Given the description of an element on the screen output the (x, y) to click on. 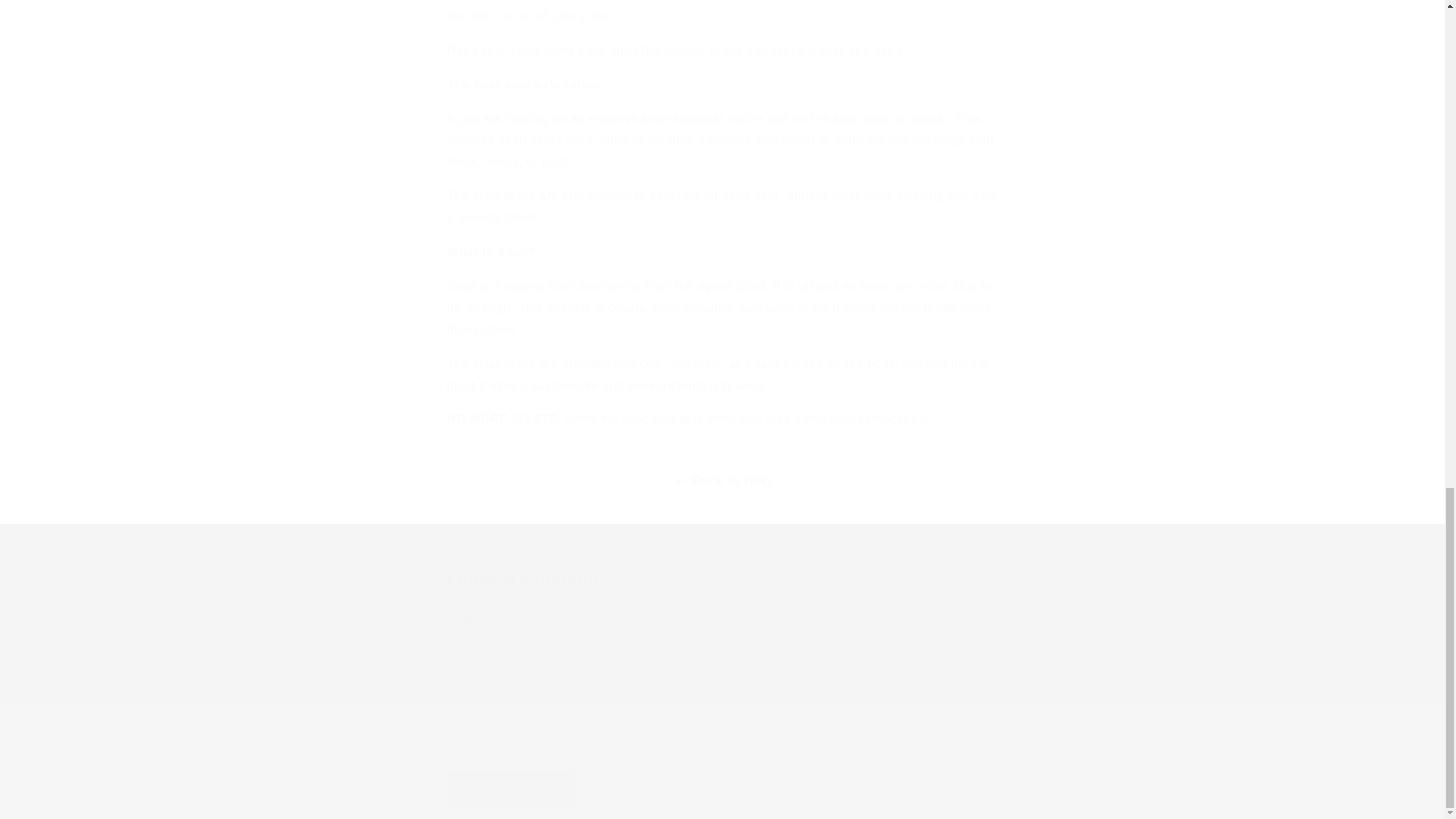
Post comment (510, 788)
